Given the description of an element on the screen output the (x, y) to click on. 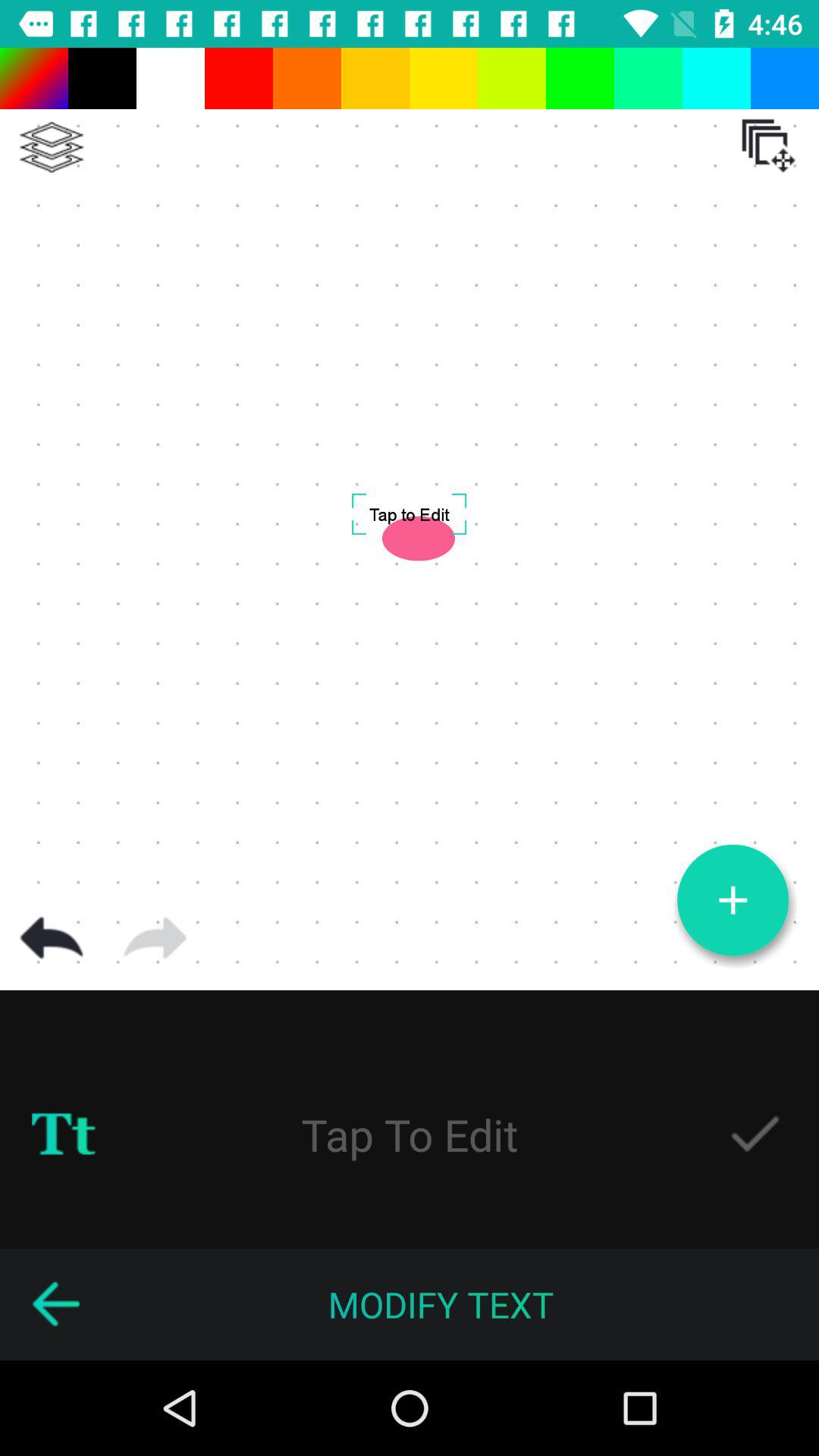
add page (733, 900)
